Given the description of an element on the screen output the (x, y) to click on. 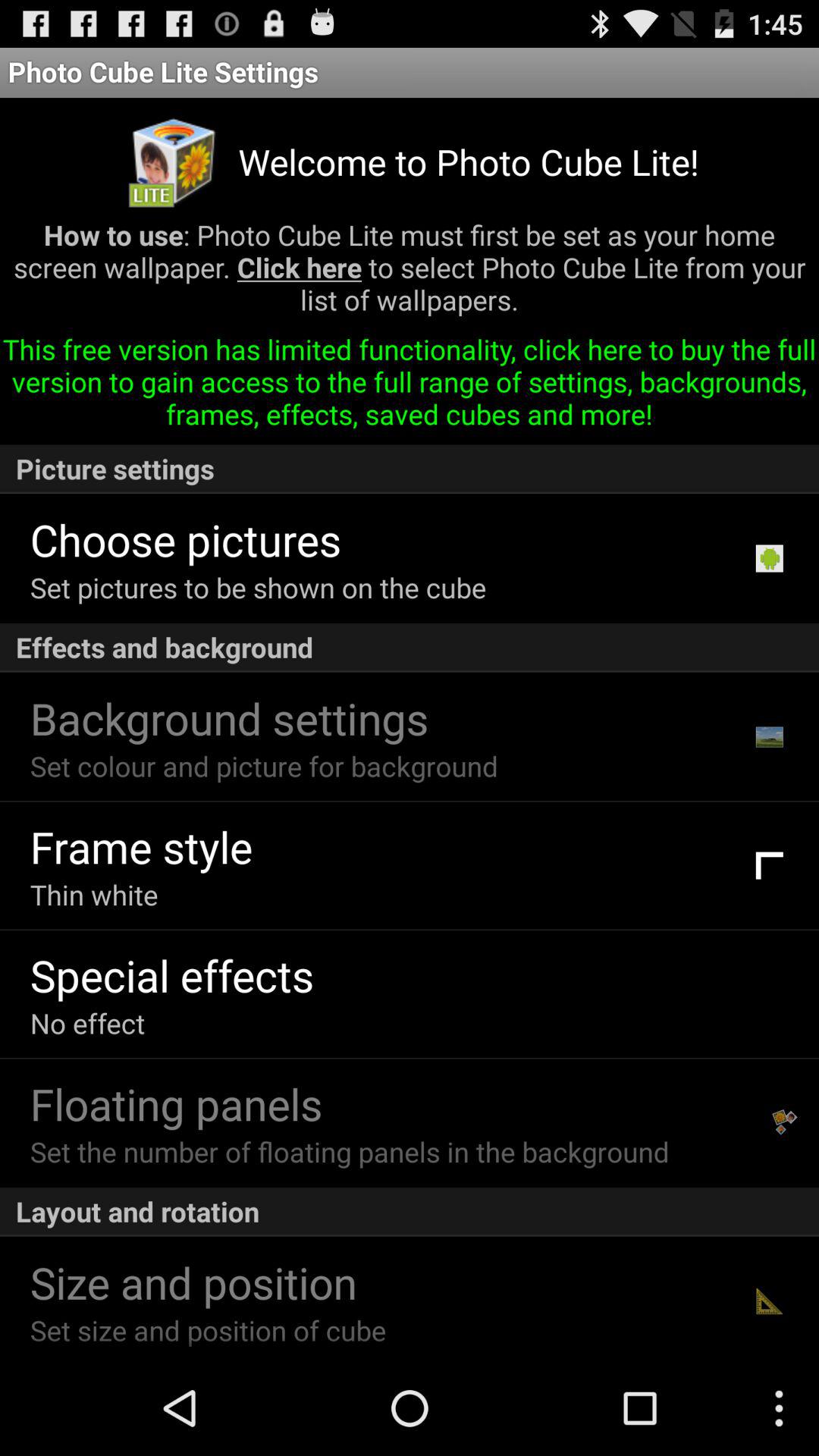
scroll until the frame style app (141, 846)
